Given the description of an element on the screen output the (x, y) to click on. 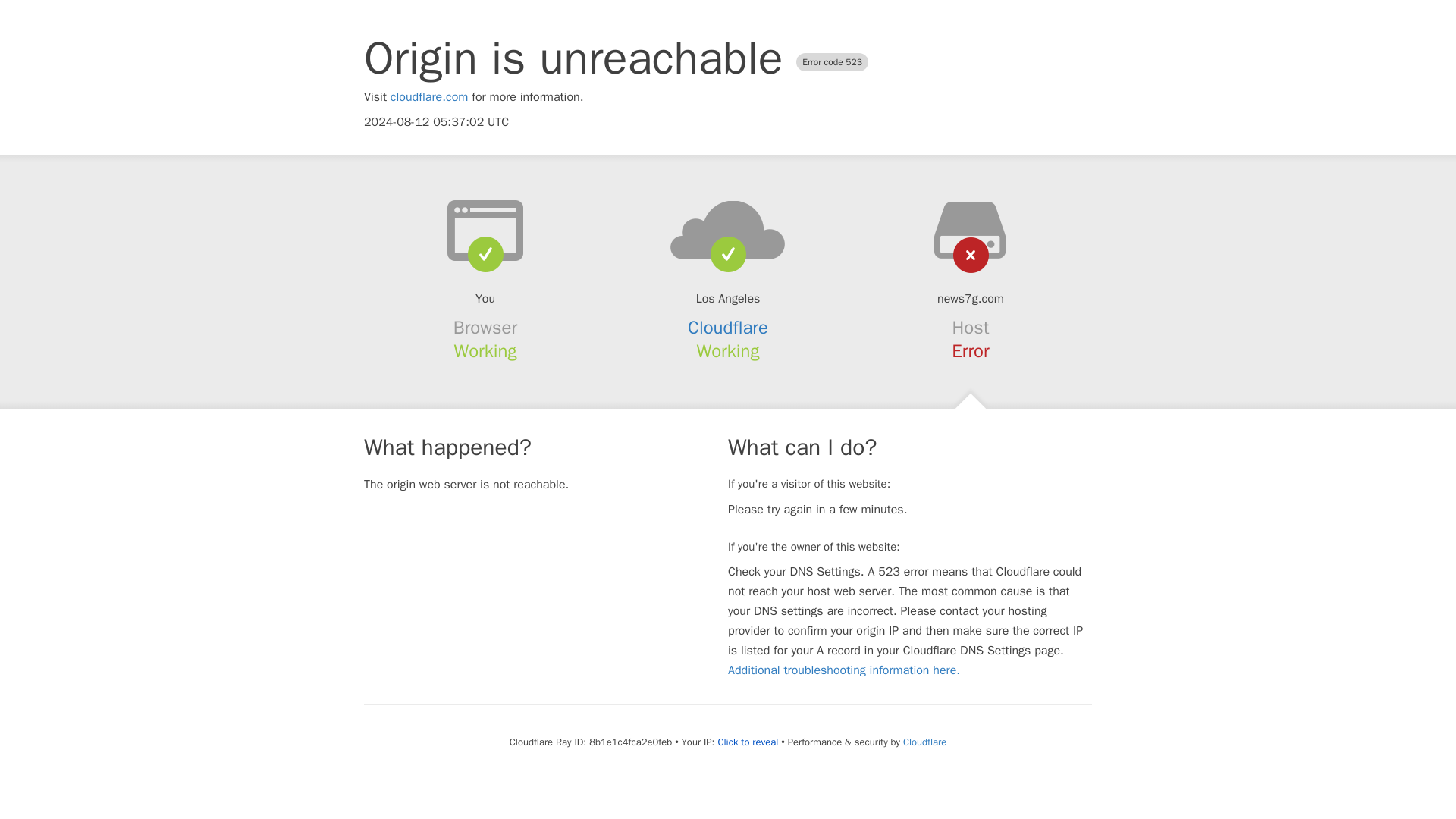
Additional troubleshooting information here. (843, 670)
Click to reveal (747, 742)
cloudflare.com (429, 96)
Cloudflare (727, 327)
Cloudflare (924, 741)
